Given the description of an element on the screen output the (x, y) to click on. 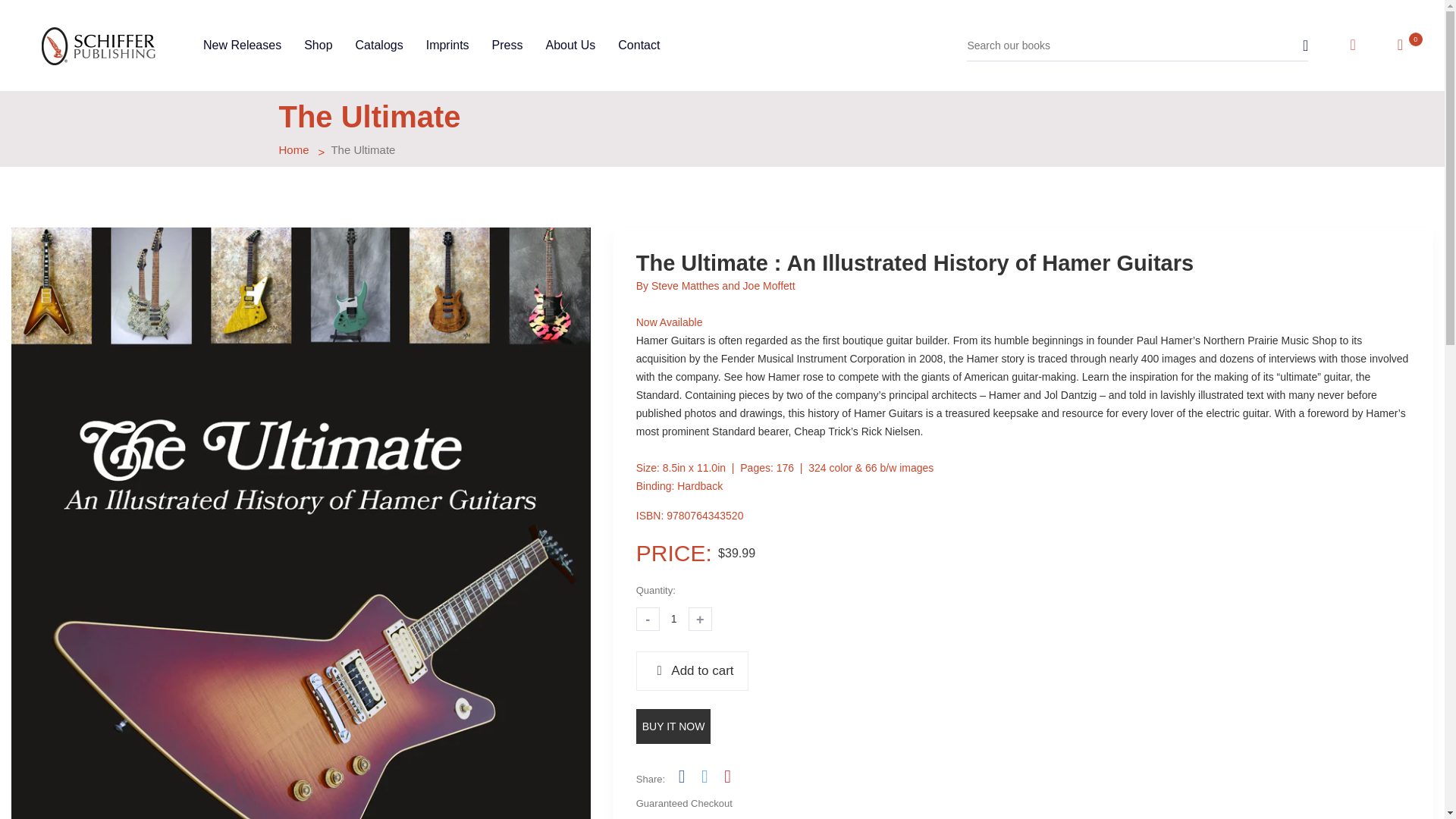
Back to the home page (293, 149)
New Releases (242, 45)
Shop (317, 45)
1 (673, 618)
Follow us on Twitter (704, 776)
Follow us on Facebook (681, 776)
Follow us on Pinterest (726, 776)
